Given the description of an element on the screen output the (x, y) to click on. 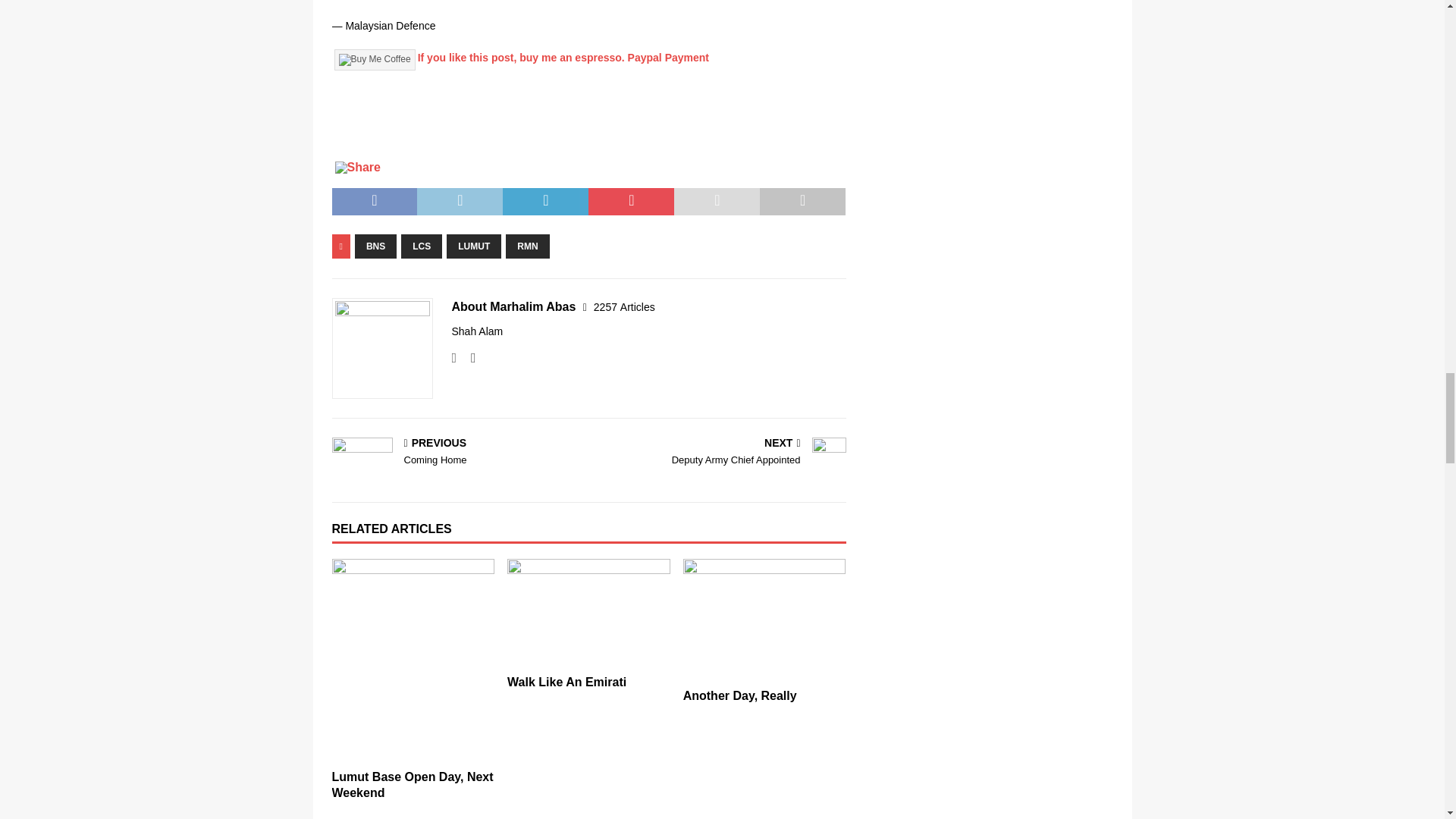
LCS (457, 452)
Buy Me Coffee (421, 246)
RMN (373, 59)
LUMUT (526, 246)
BNS (473, 246)
2257 Articles (375, 246)
Lumut Base Open Day, Next Weekend (720, 452)
If you like this post, buy me an espresso. Paypal Payment (624, 306)
